Given the description of an element on the screen output the (x, y) to click on. 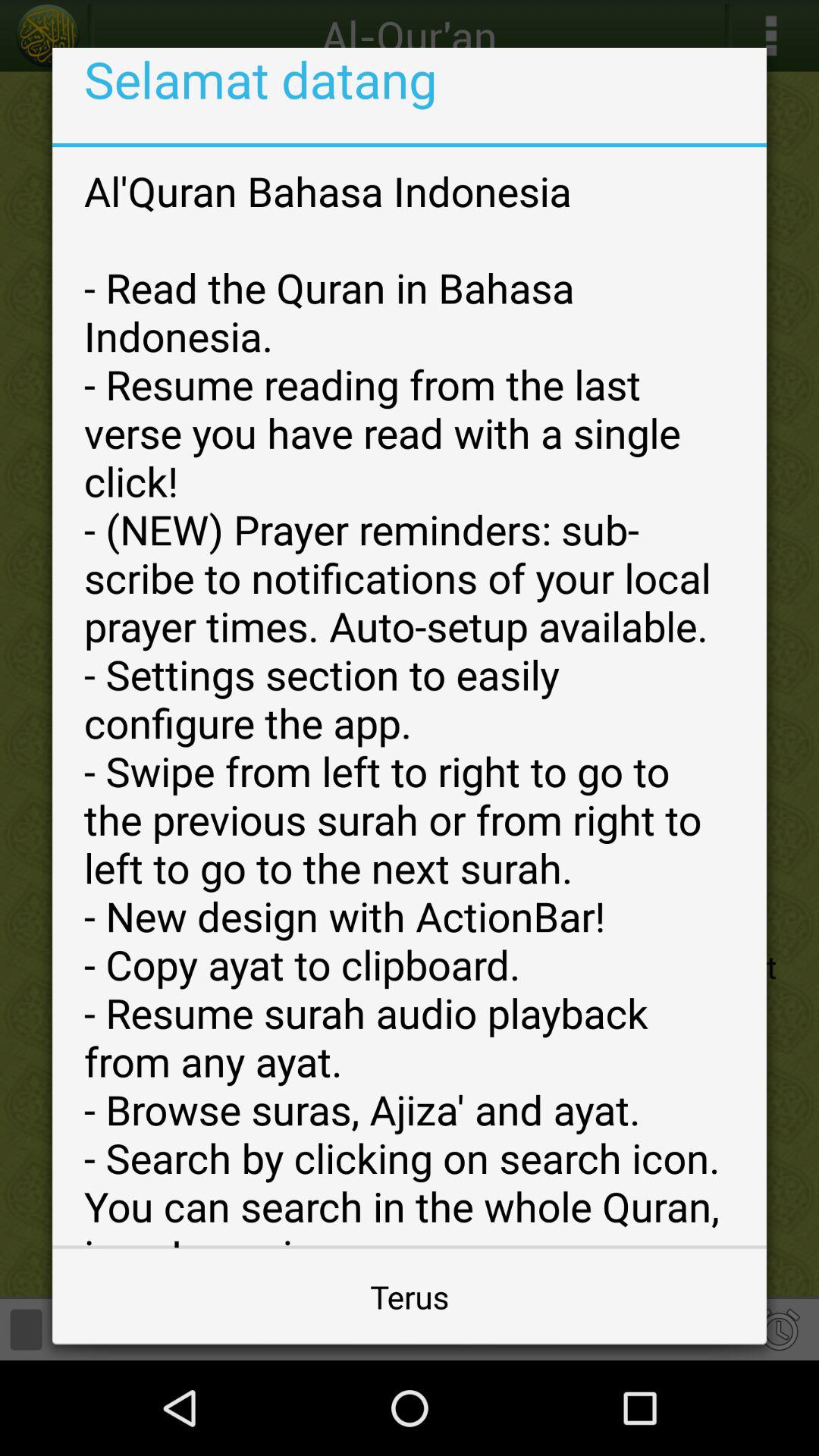
tap the terus (409, 1296)
